Given the description of an element on the screen output the (x, y) to click on. 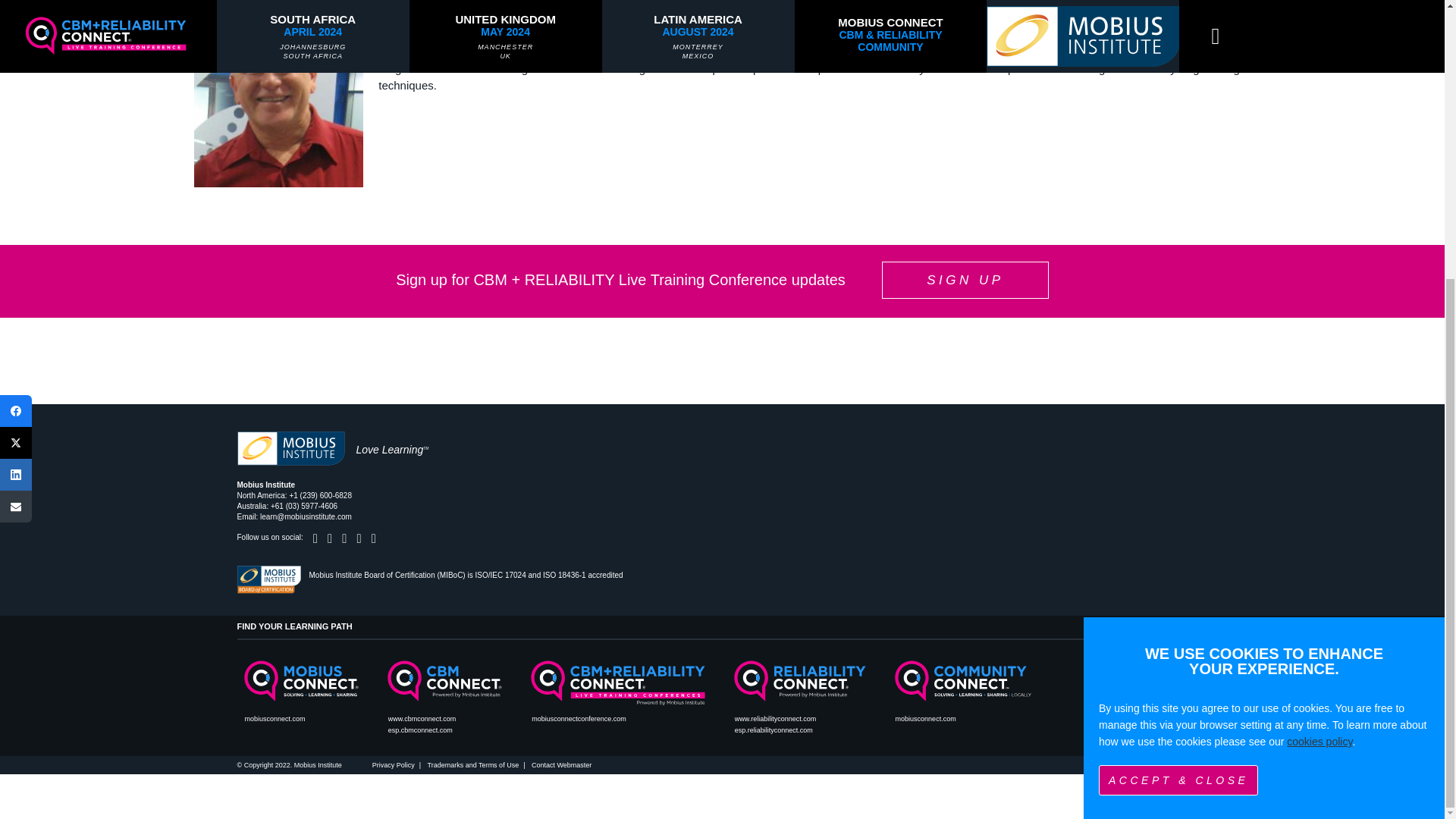
cookies policy (1319, 326)
SIGN UP (965, 279)
